Given the description of an element on the screen output the (x, y) to click on. 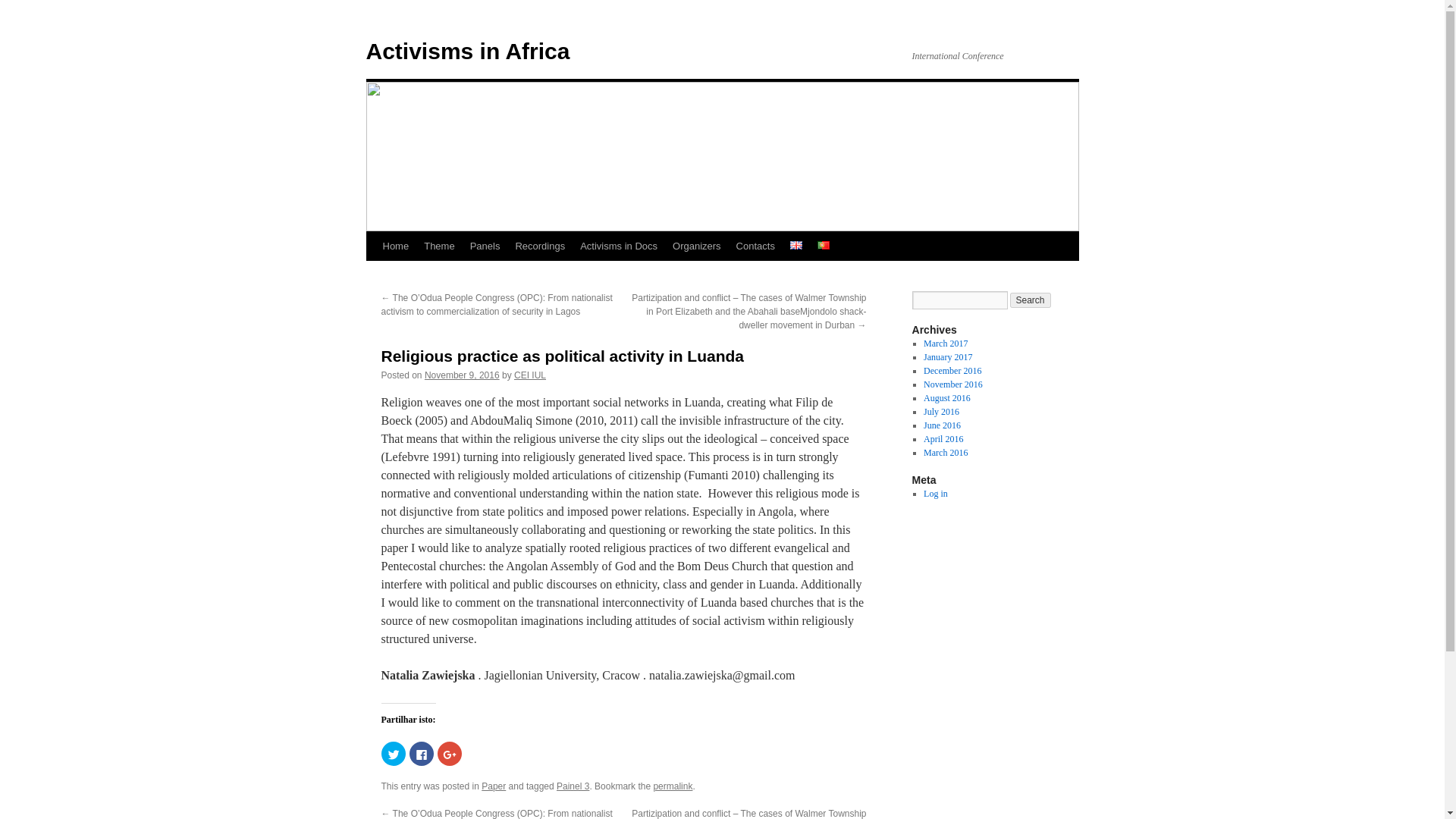
Click to share on Twitter (392, 753)
March 2017 (945, 343)
Activisms in Africa (467, 50)
Click to share on Facebook (421, 753)
Activisms in Africa (467, 50)
Organizers (697, 246)
Home (395, 246)
Contacts (756, 246)
Panels (485, 246)
Activisms in Docs (618, 246)
